Given the description of an element on the screen output the (x, y) to click on. 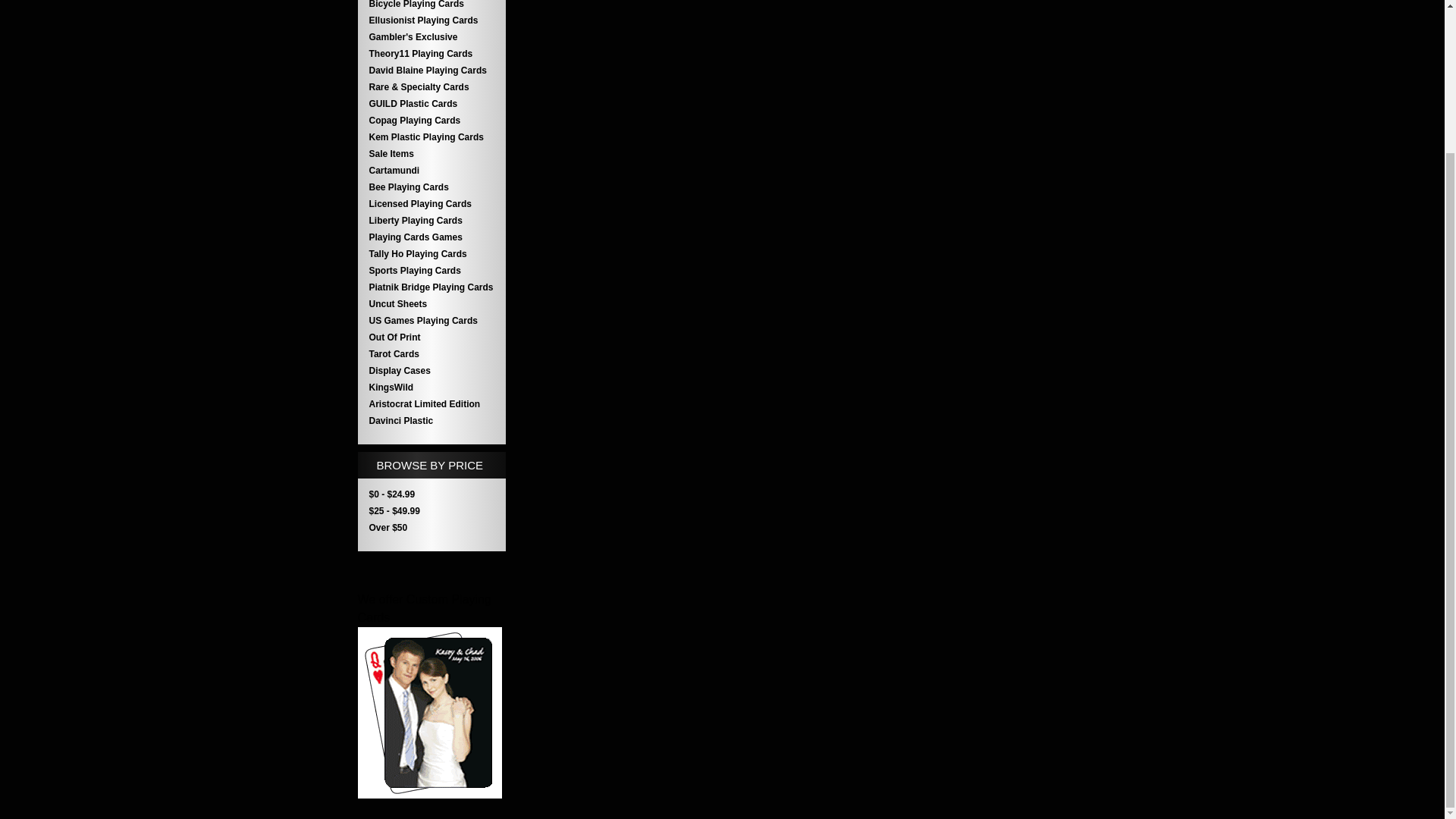
Sports Playing Cards (431, 270)
Sale Items (431, 153)
Copag Playing Cards (431, 120)
Liberty Playing Cards (431, 220)
David Blaine Playing Cards (431, 70)
Piatnik Bridge Playing Cards (431, 287)
GUILD Plastic Cards (431, 103)
Tally Ho Playing Cards (431, 253)
Ellusionist Playing Cards (431, 20)
Theory11 Playing Cards (431, 53)
